Given the description of an element on the screen output the (x, y) to click on. 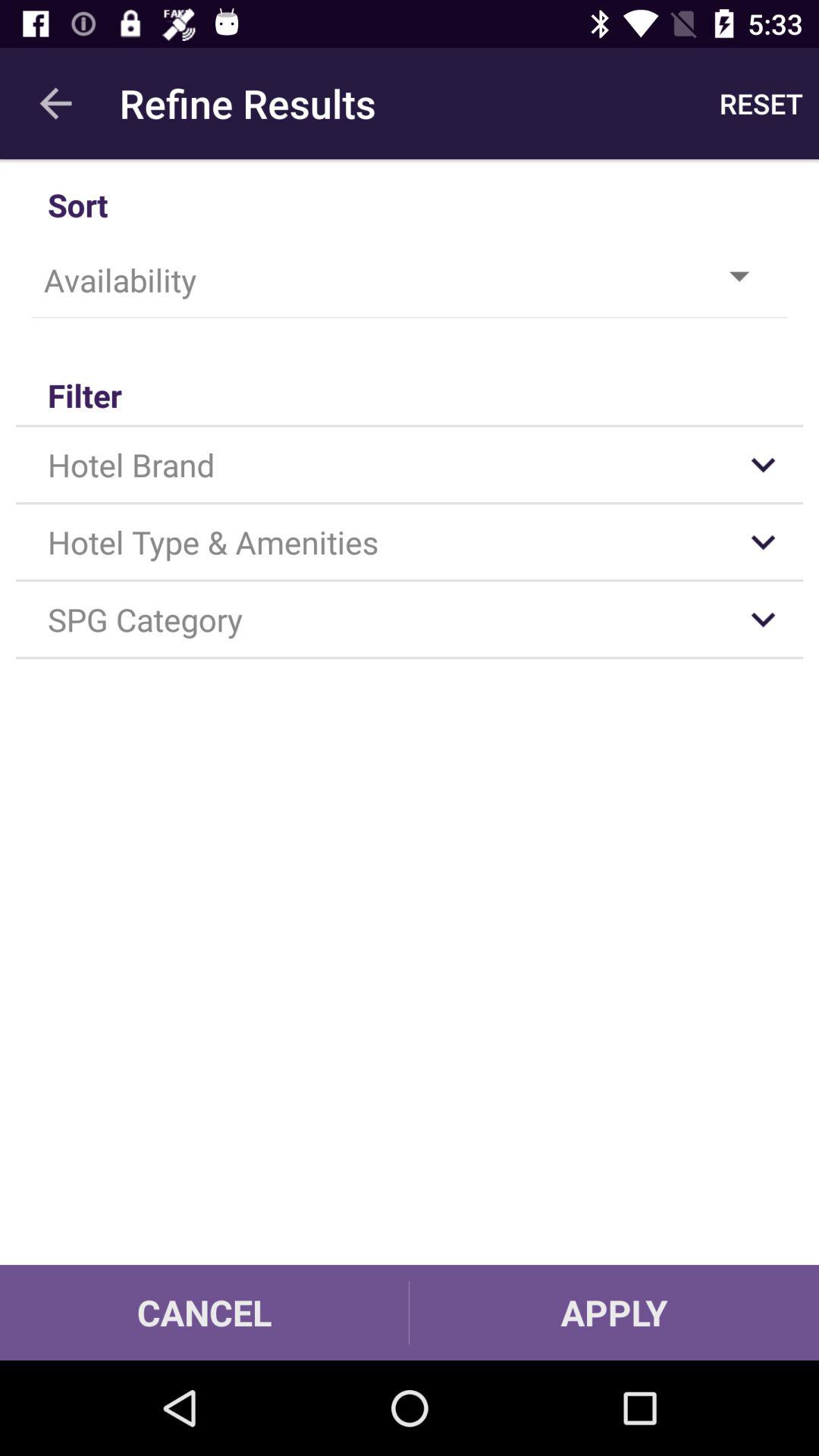
turn on icon at the bottom left corner (204, 1312)
